Given the description of an element on the screen output the (x, y) to click on. 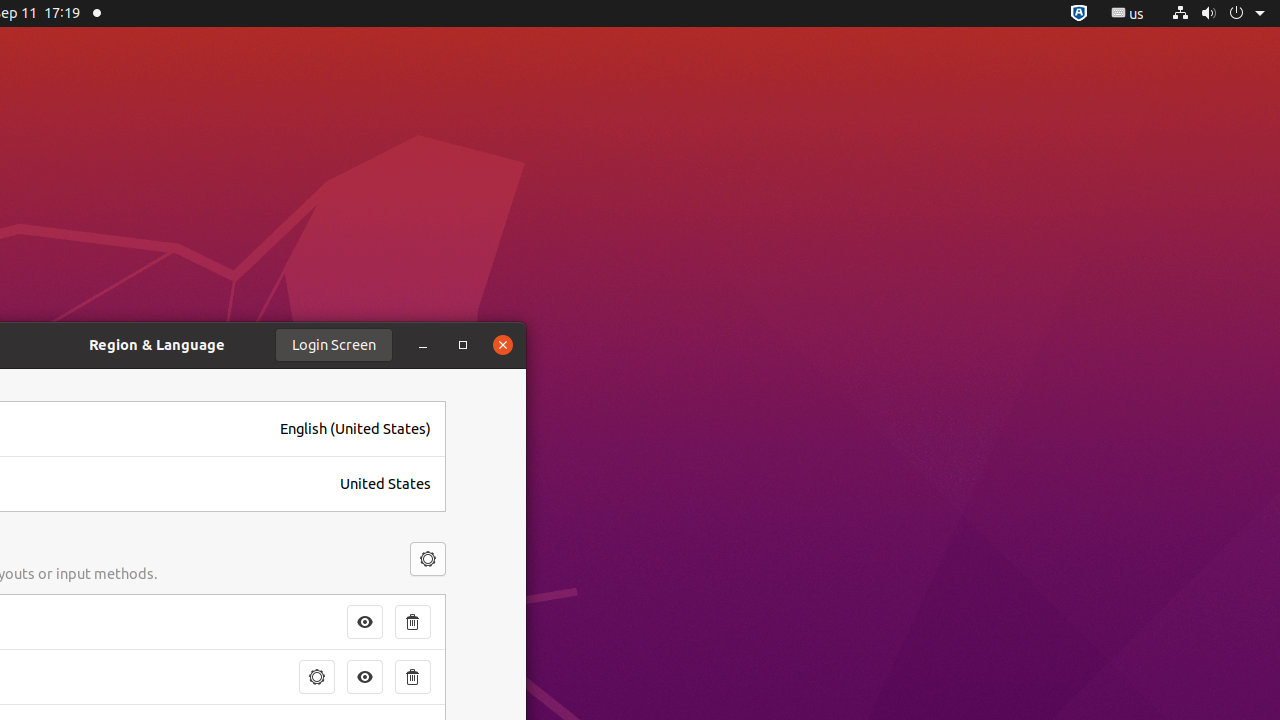
Region & Language Element type: label (157, 344)
